Given the description of an element on the screen output the (x, y) to click on. 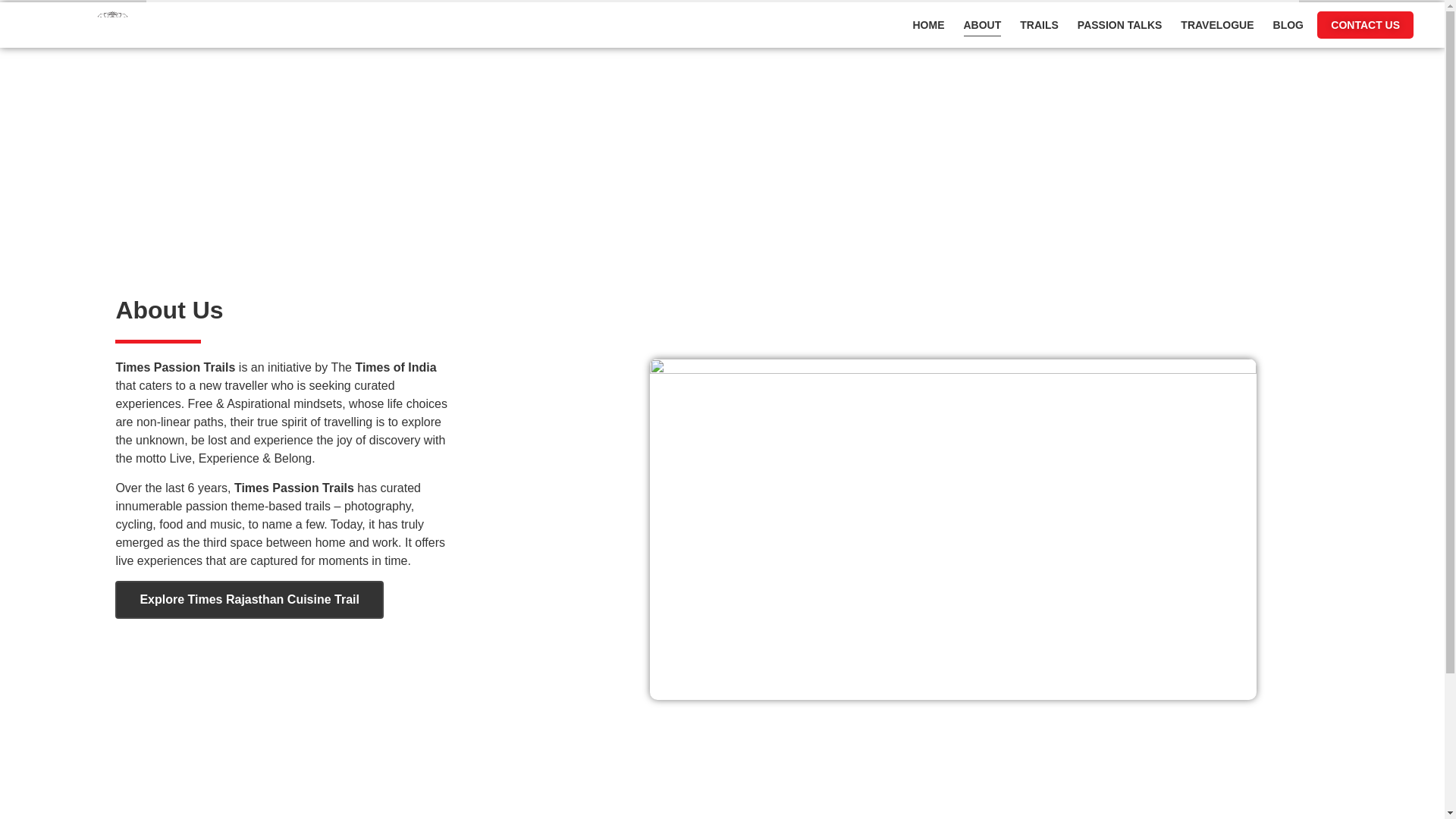
ABOUT (981, 24)
HOME (928, 24)
Explore Times Rajasthan Cuisine Trail (249, 599)
TRAVELOGUE (1216, 24)
TRAILS (1039, 24)
PASSION TALKS (1119, 24)
CONTACT US (1365, 24)
BLOG (1287, 24)
